Given the description of an element on the screen output the (x, y) to click on. 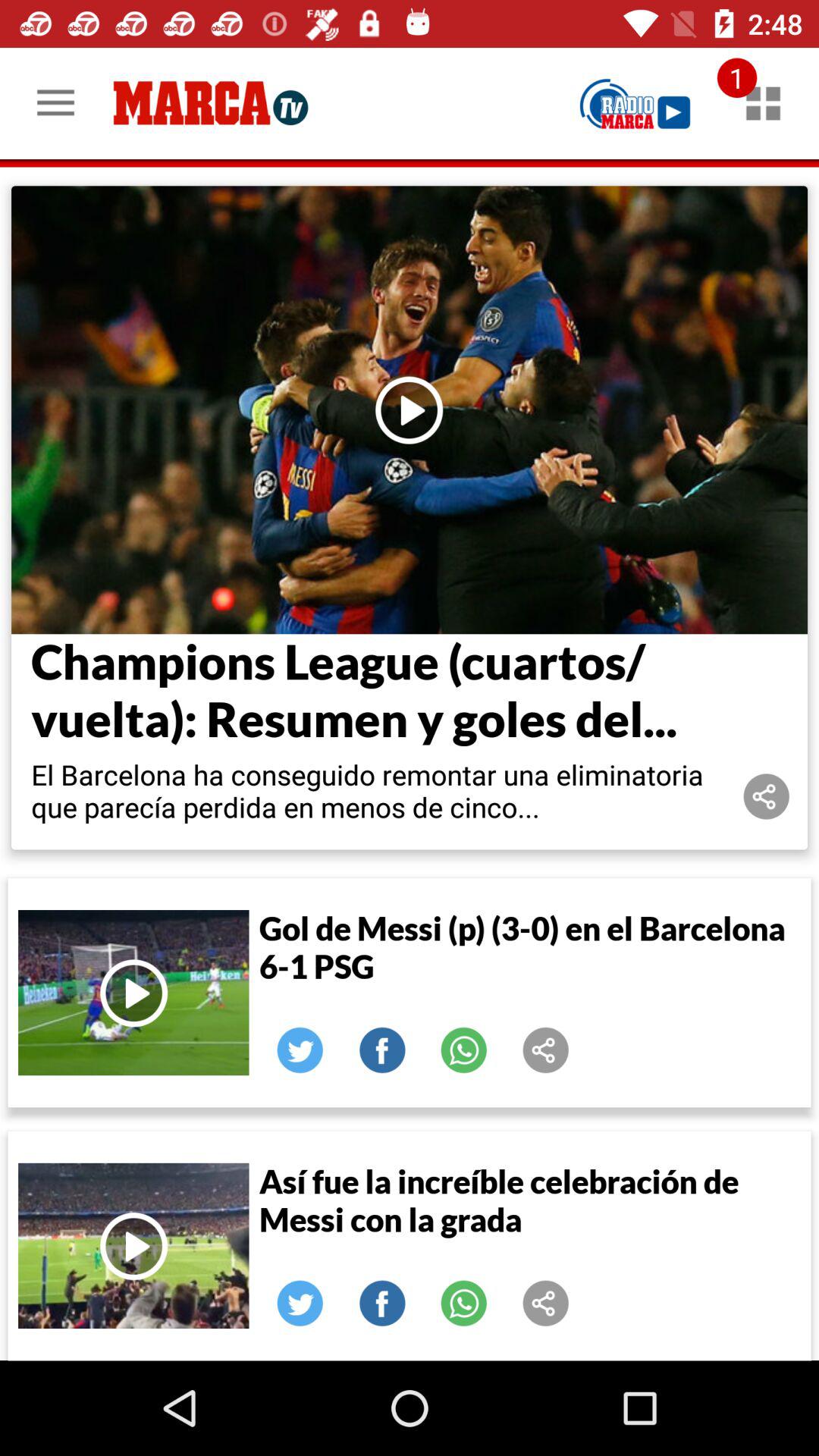
facebook icon (382, 1303)
